Given the description of an element on the screen output the (x, y) to click on. 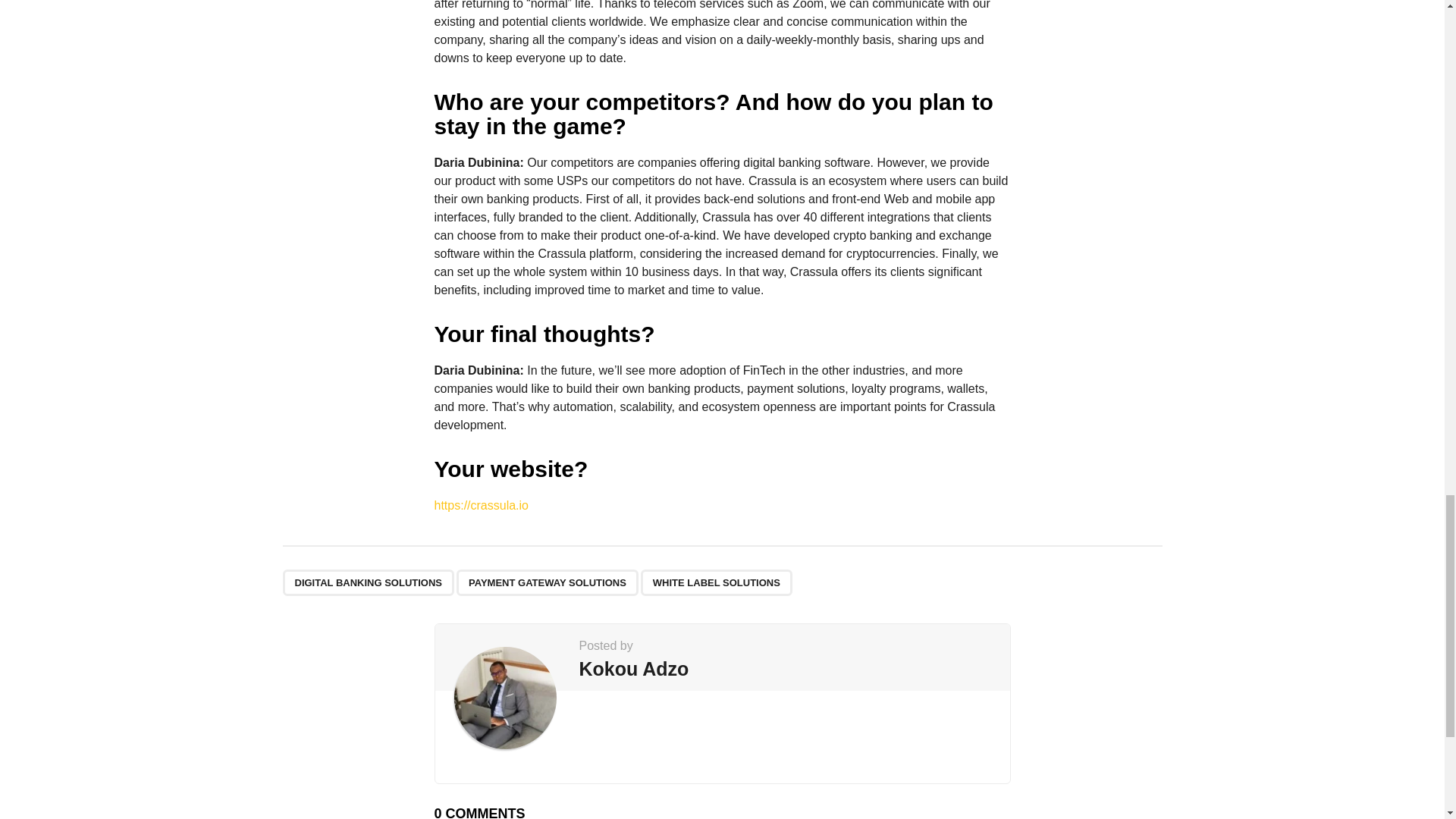
PAYMENT GATEWAY SOLUTIONS (548, 582)
Kokou Adzo (633, 668)
DIGITAL BANKING SOLUTIONS (368, 582)
WHITE LABEL SOLUTIONS (716, 582)
